Given the description of an element on the screen output the (x, y) to click on. 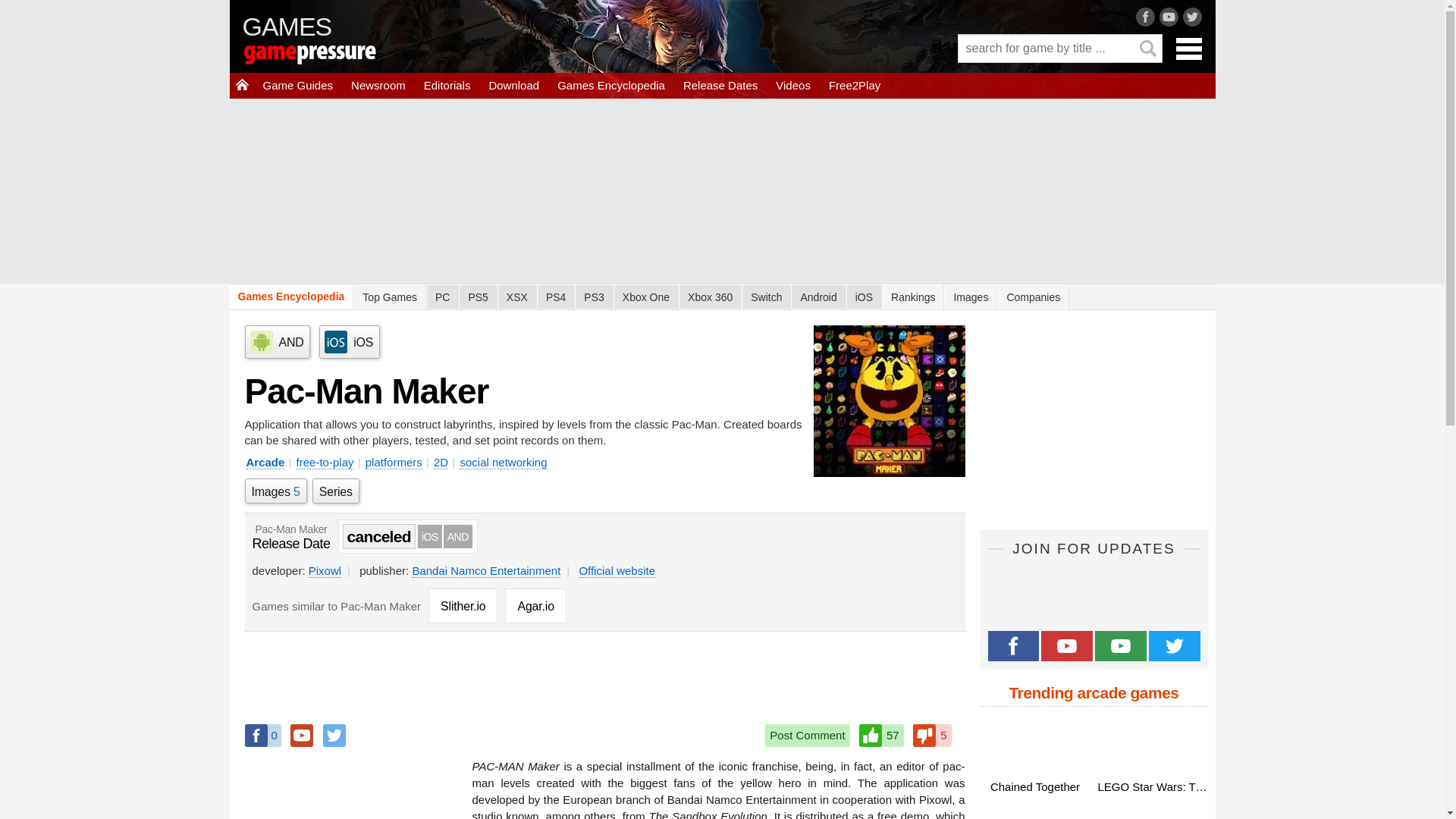
Pac-Man Maker Release Dates (290, 537)
Free2Play (854, 85)
Game Guides (297, 85)
Arcade (264, 462)
Companies (1032, 296)
Games Encyclopedia (611, 85)
PS5 (477, 296)
Newsroom (378, 85)
Twitter (334, 734)
gamepressure.com (331, 55)
2D (440, 462)
PS4 (556, 296)
Facebook (262, 734)
Videos (793, 85)
Games Encyclopedia (290, 297)
